Given the description of an element on the screen output the (x, y) to click on. 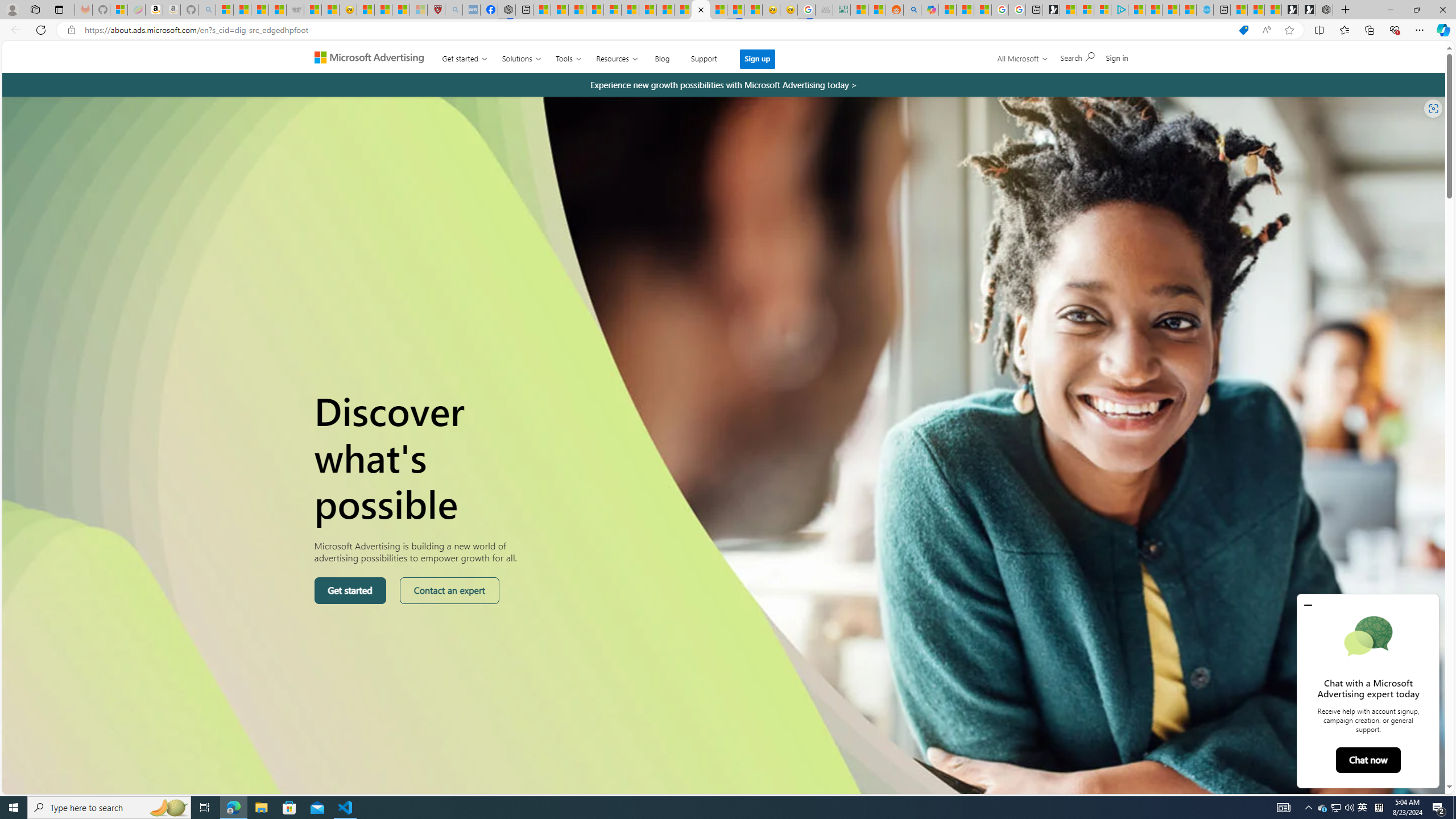
14 Common Myths Debunked By Scientific Facts (665, 9)
Blog (662, 56)
Shopping in Microsoft Edge (1243, 29)
DITOGAMES AG Imprint (842, 9)
Play Free Online Games | Games from Microsoft Start (1307, 9)
Microsoft-Report a Concern to Bing (118, 9)
12 Popular Science Lies that Must be Corrected - Sleeping (418, 9)
